Given the description of an element on the screen output the (x, y) to click on. 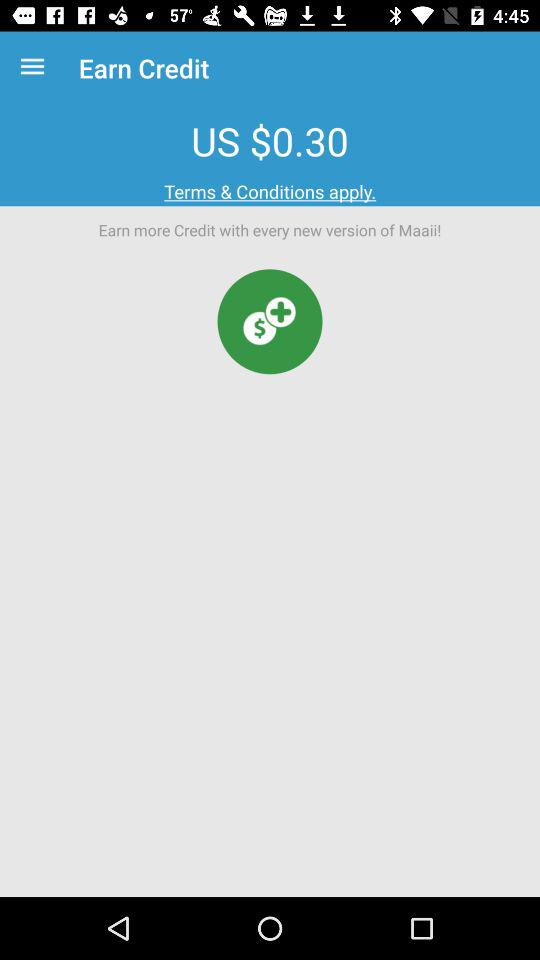
jump until the terms & conditions apply. item (270, 191)
